Given the description of an element on the screen output the (x, y) to click on. 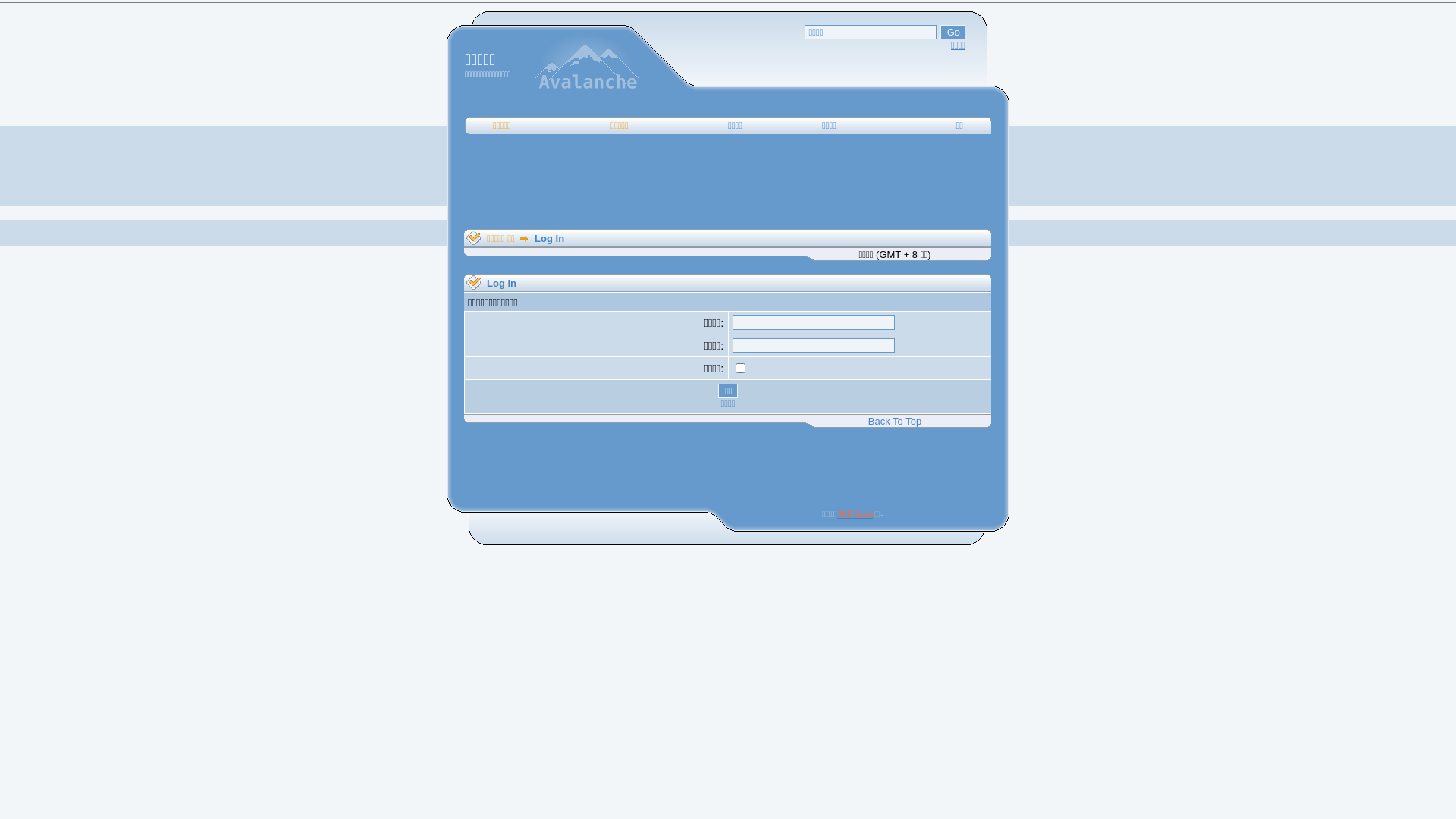
SKR Studio Element type: text (854, 513)
Go Element type: text (952, 32)
Advertisement Element type: hover (727, 181)
Advertisement Element type: hover (727, 461)
Back To Top Element type: text (894, 420)
